Given the description of an element on the screen output the (x, y) to click on. 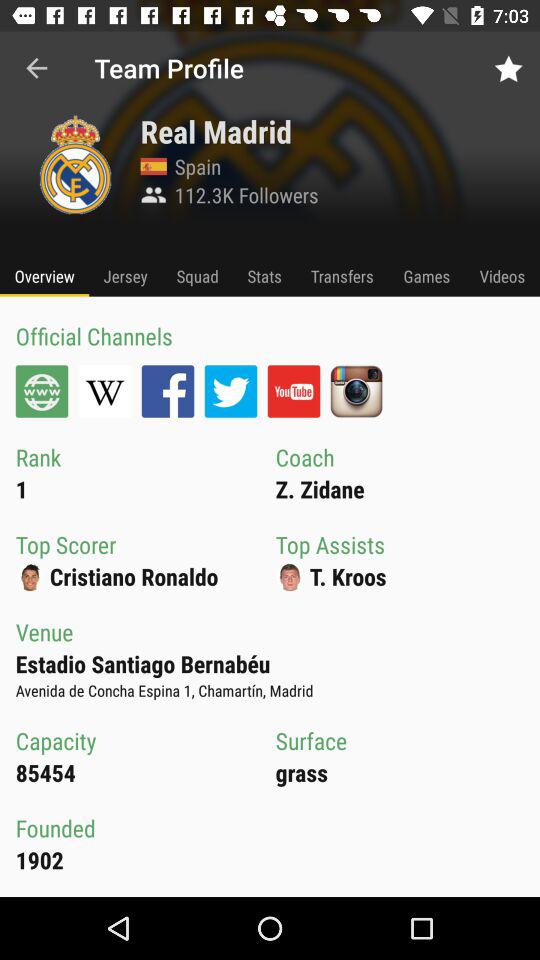
press icon next to the transfers item (426, 276)
